Given the description of an element on the screen output the (x, y) to click on. 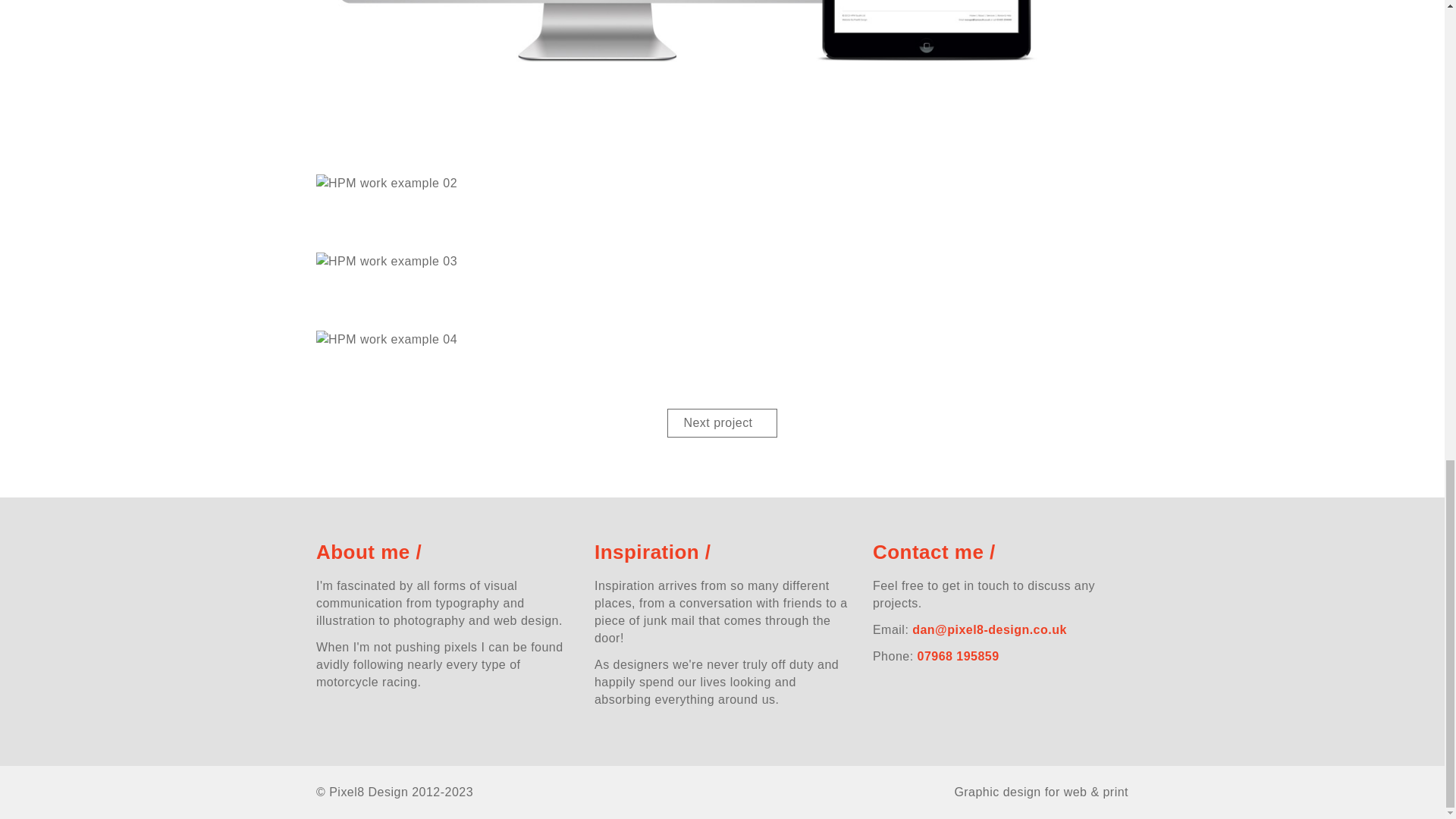
Next project (721, 422)
07968 195859 (957, 656)
